Given the description of an element on the screen output the (x, y) to click on. 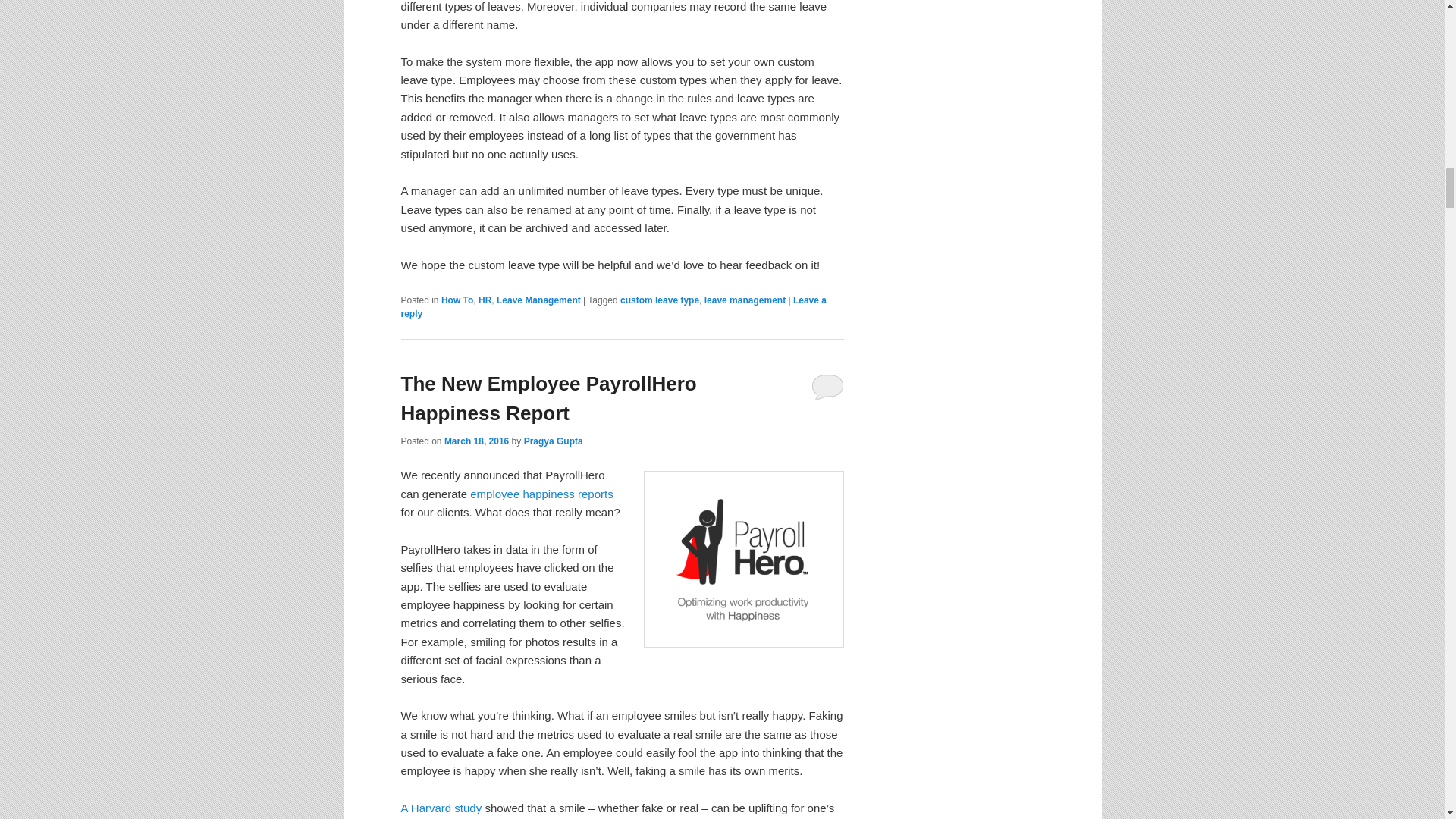
12:52 pm (476, 440)
View all posts by Pragya Gupta (553, 440)
